Given the description of an element on the screen output the (x, y) to click on. 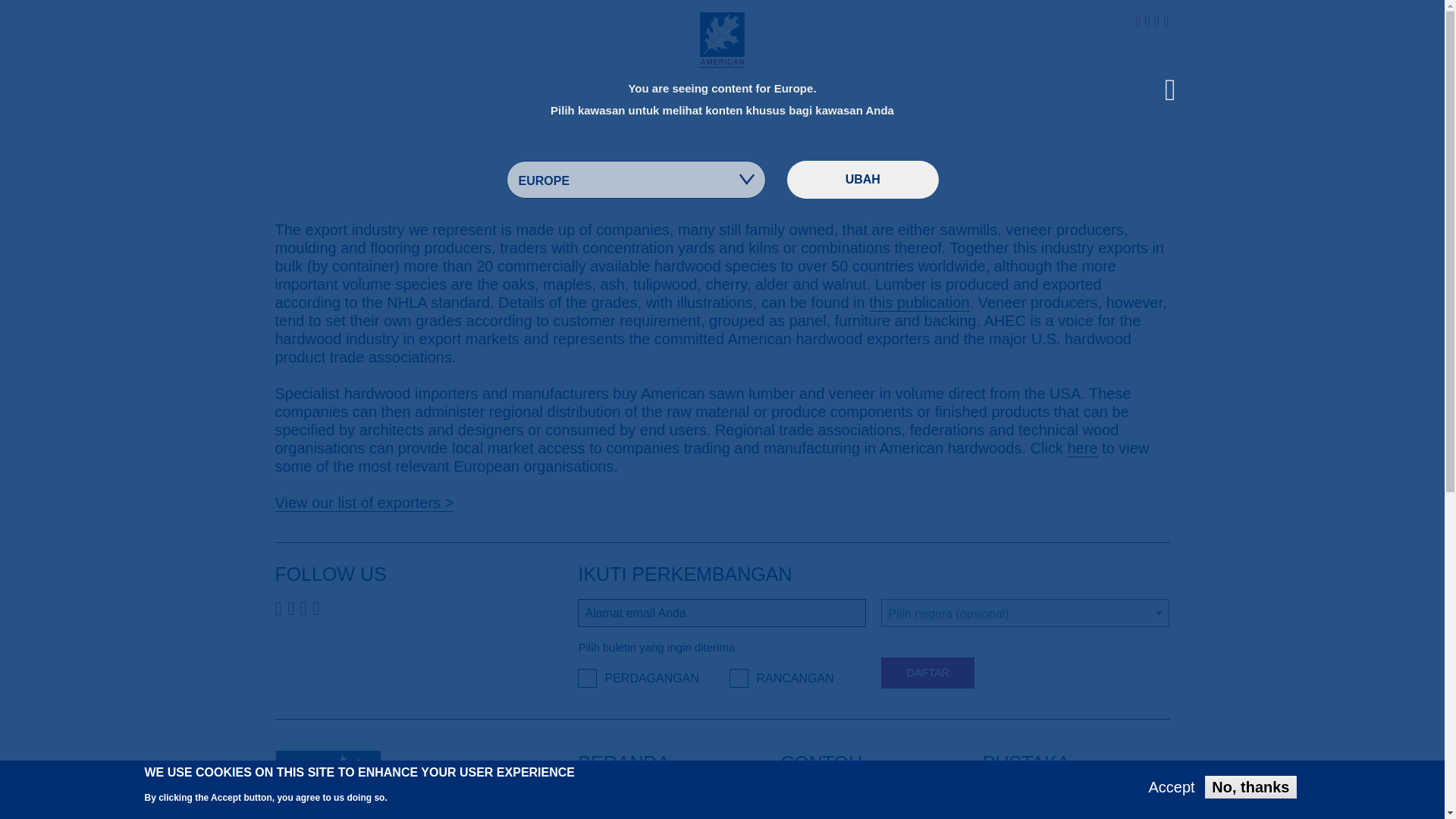
Accept (1171, 786)
American Hardwood Export Council Home (722, 54)
Daftar (927, 672)
No, thanks (1250, 786)
